Given the description of an element on the screen output the (x, y) to click on. 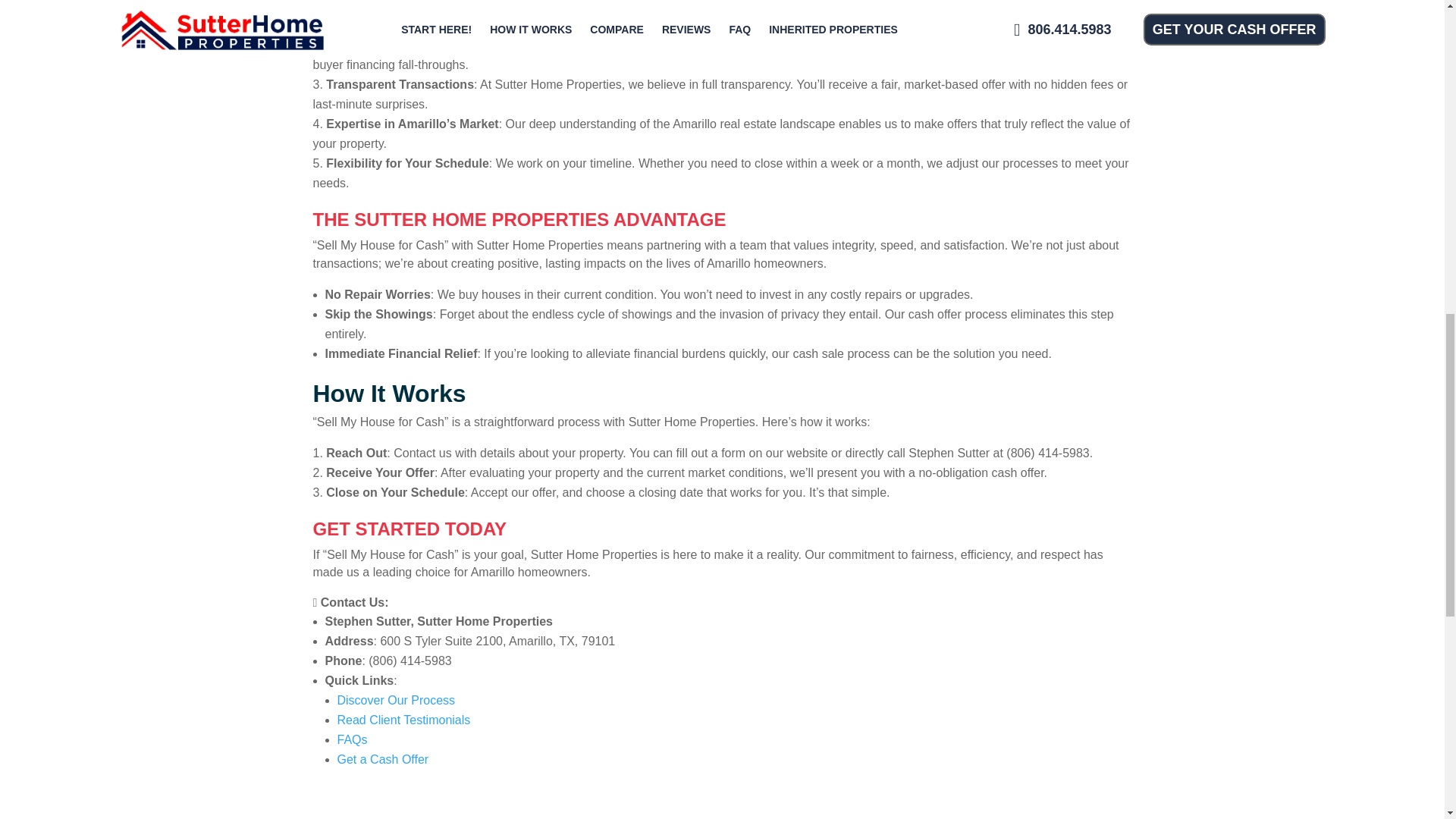
Discover Our Process (395, 699)
FAQs (351, 739)
Read Client Testimonials (403, 719)
Get a Cash Offer (382, 758)
